Given the description of an element on the screen output the (x, y) to click on. 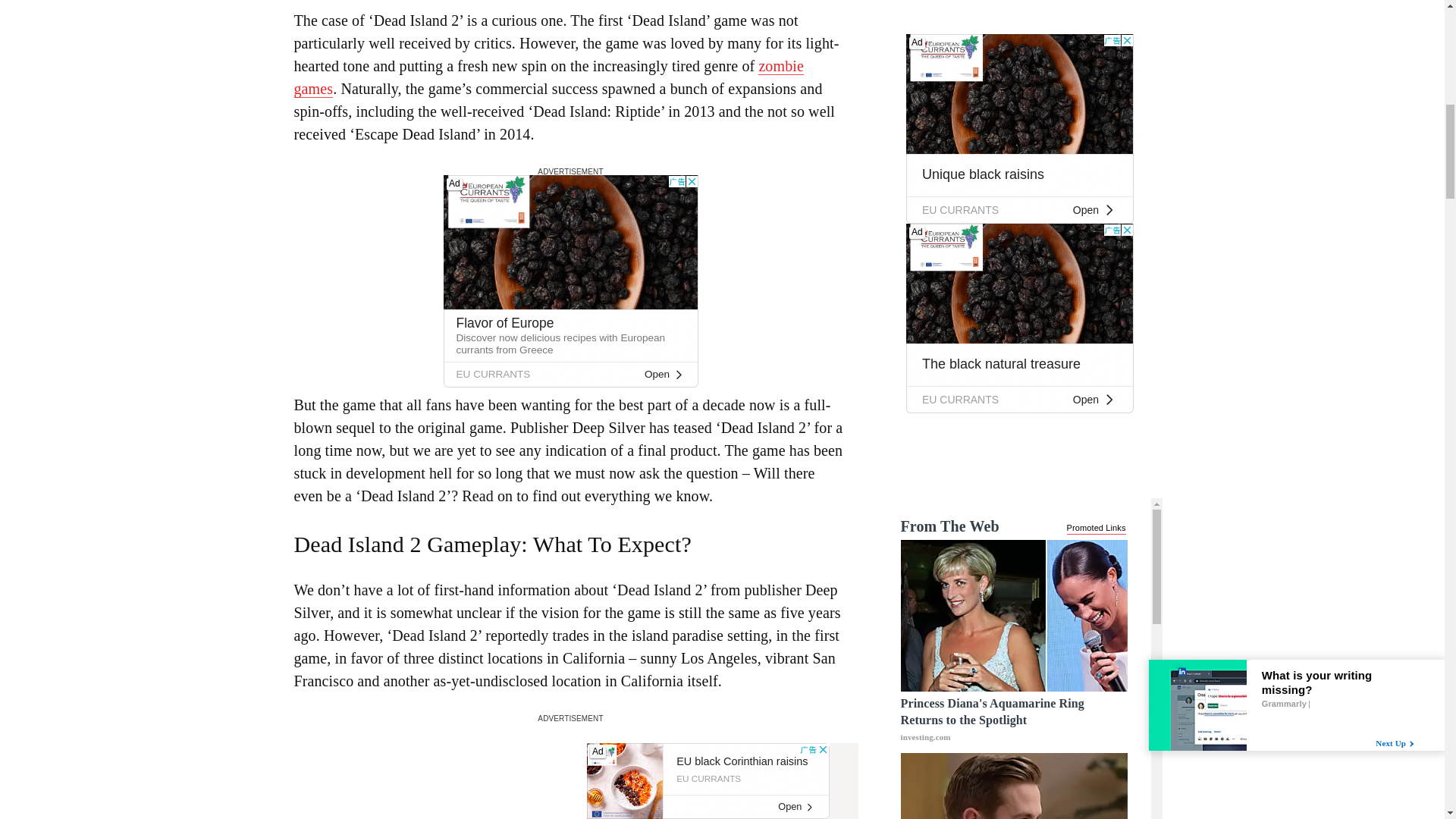
zombie games (548, 77)
3rd party ad content (569, 281)
